Given the description of an element on the screen output the (x, y) to click on. 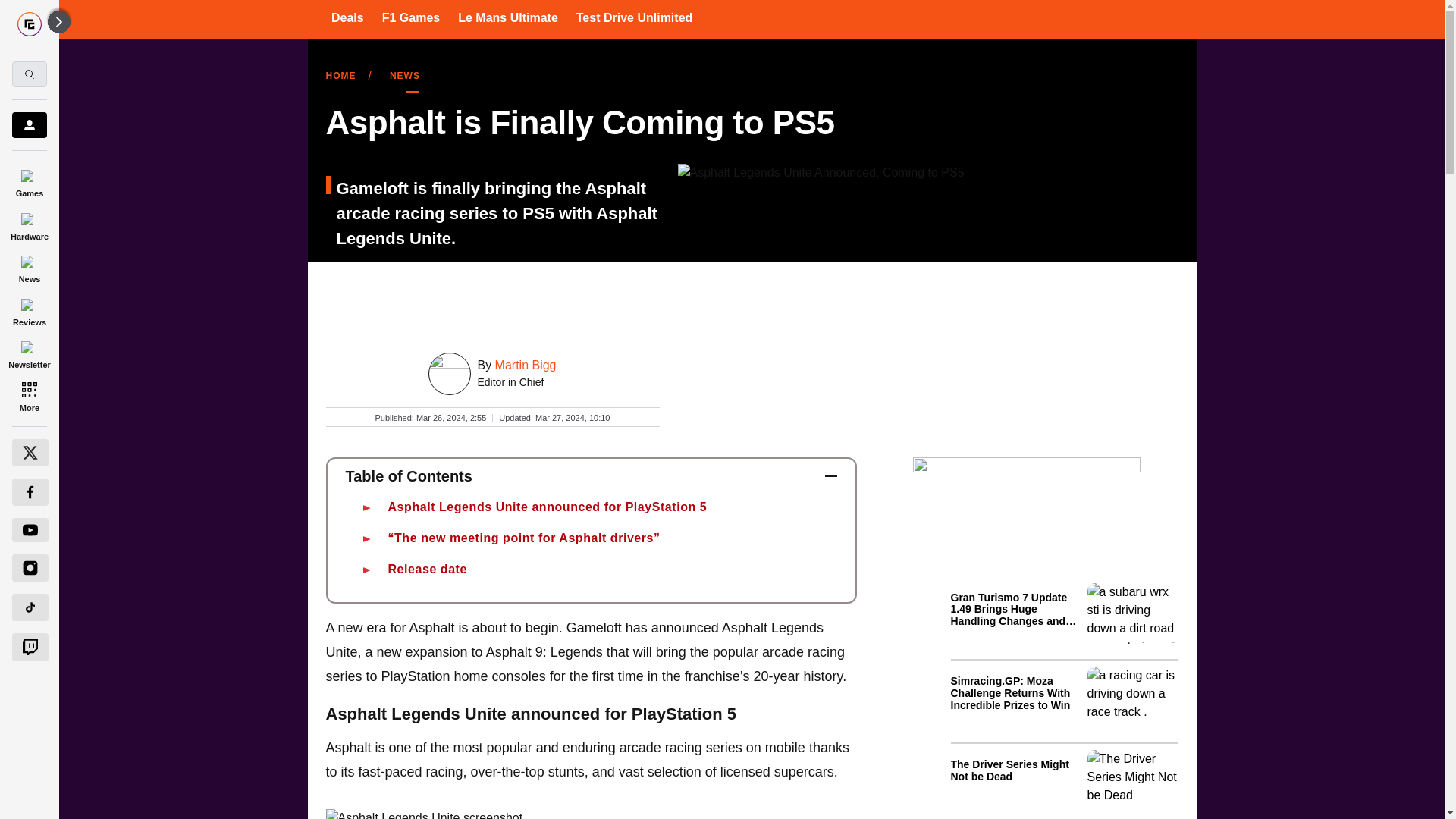
F1 Games (410, 18)
Test Drive Unlimited (634, 18)
More (28, 395)
News (28, 266)
Newsletter (28, 352)
Deals (347, 18)
Hardware (28, 224)
Latest News (1063, 697)
Reviews (28, 309)
Le Mans Ultimate (507, 18)
Games (28, 180)
